Given the description of an element on the screen output the (x, y) to click on. 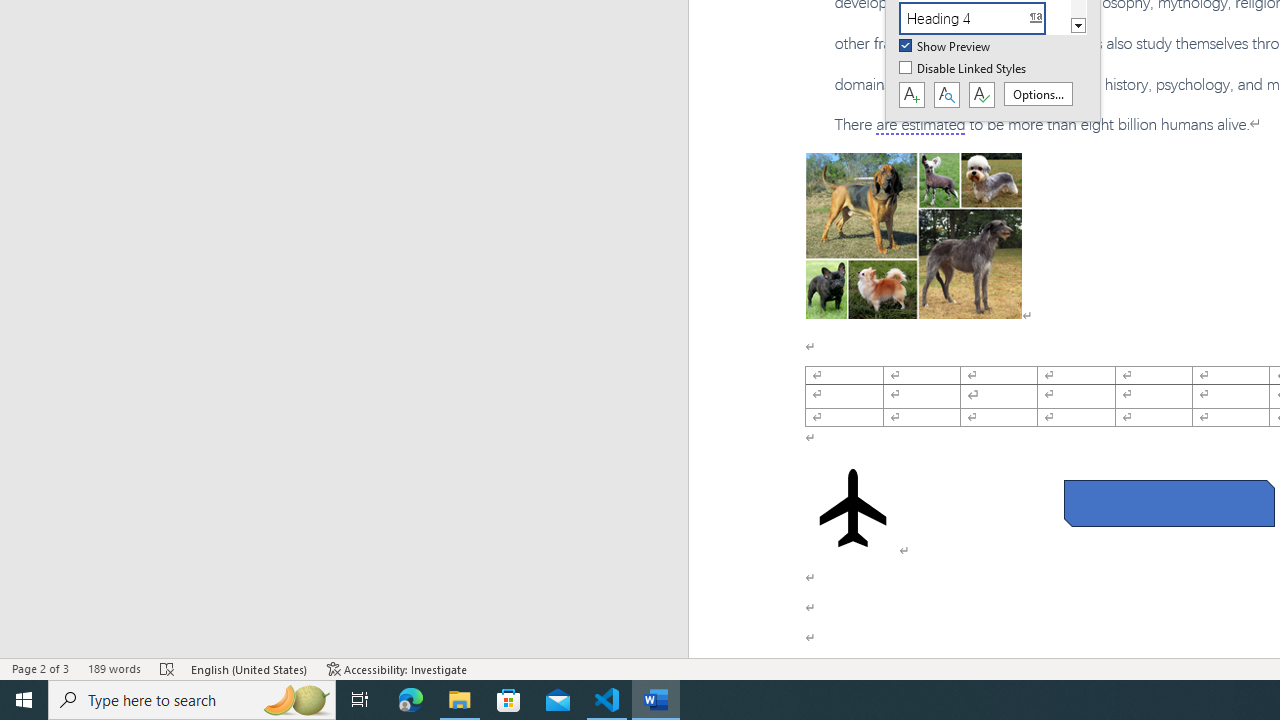
Options... (1037, 93)
Disable Linked Styles (964, 69)
Rectangle: Diagonal Corners Snipped 2 (1168, 503)
Morphological variation in six dogs (913, 235)
Show Preview (946, 47)
Page Number Page 2 of 3 (39, 668)
Class: NetUIImage (971, 18)
Accessibility Checker Accessibility: Investigate (397, 668)
Spelling and Grammar Check Errors (168, 668)
Class: NetUIButton (981, 95)
Heading 4 (984, 18)
Language English (United States) (250, 668)
Airplane with solid fill (852, 507)
